Given the description of an element on the screen output the (x, y) to click on. 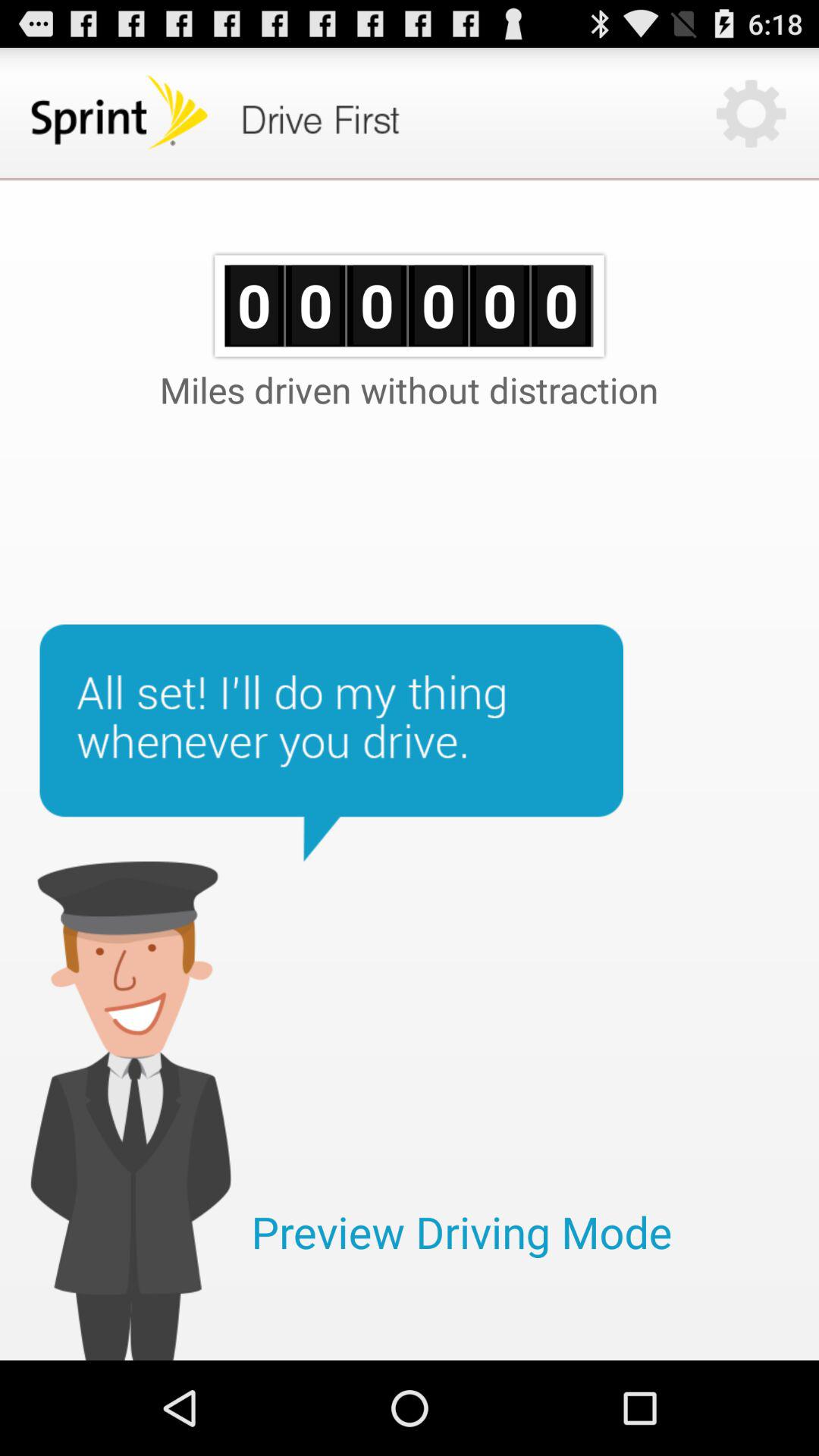
turn off the preview driving mode item (461, 1231)
